Given the description of an element on the screen output the (x, y) to click on. 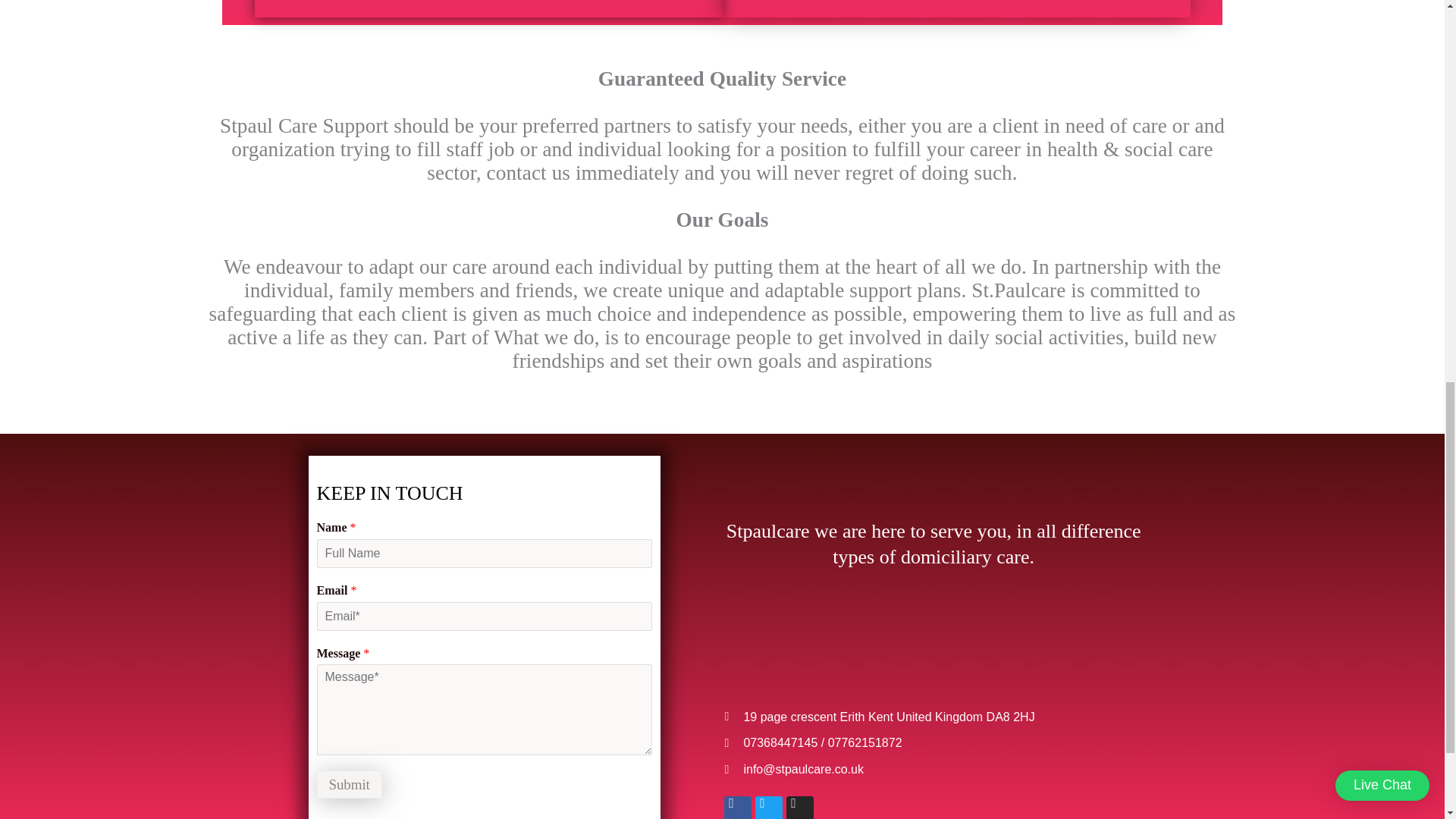
19 page crescent Erith Kent United Kingdom DA8 2HJ (932, 716)
Twitter (769, 807)
Instagram (799, 807)
Submit (349, 784)
Facebook (737, 807)
